Given the description of an element on the screen output the (x, y) to click on. 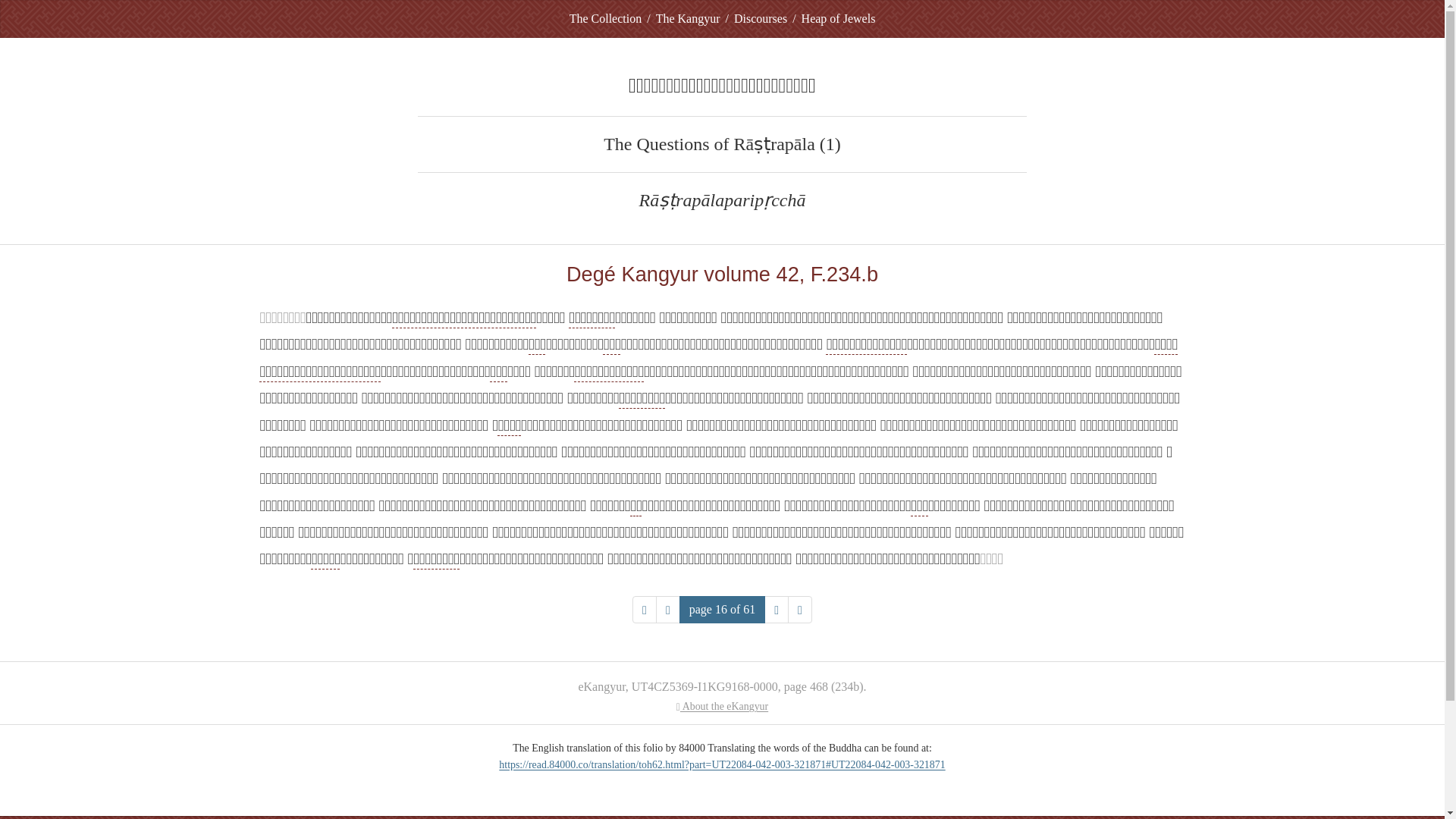
Discourses (760, 18)
The Kangyur (688, 18)
Heap of Jewels (839, 18)
About the eKangyur (722, 706)
The Collection (605, 18)
